Given the description of an element on the screen output the (x, y) to click on. 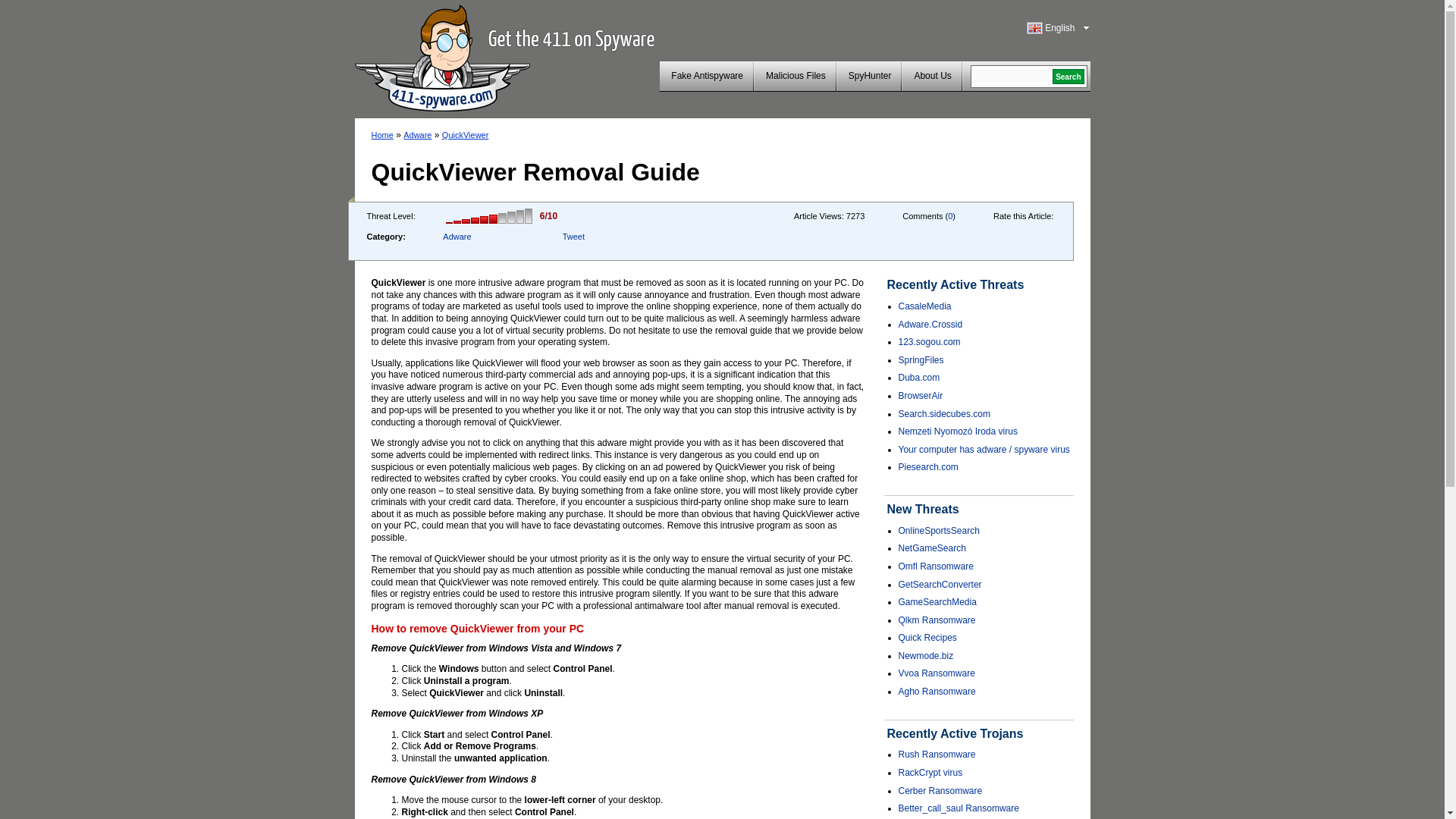
Tweet (573, 235)
Home (382, 134)
Adware.Crossid (930, 324)
BrowserAir (920, 395)
Duba.com (918, 377)
GameSearchMedia (936, 602)
Search.sidecubes.com (944, 413)
OnlineSportsSearch (938, 530)
Adware (416, 134)
Malicious Files (795, 76)
123.sogou.com (928, 341)
CasaleMedia (924, 306)
Search.sidecubes.com (944, 413)
BrowserAir (920, 395)
Duba.com (918, 377)
